Given the description of an element on the screen output the (x, y) to click on. 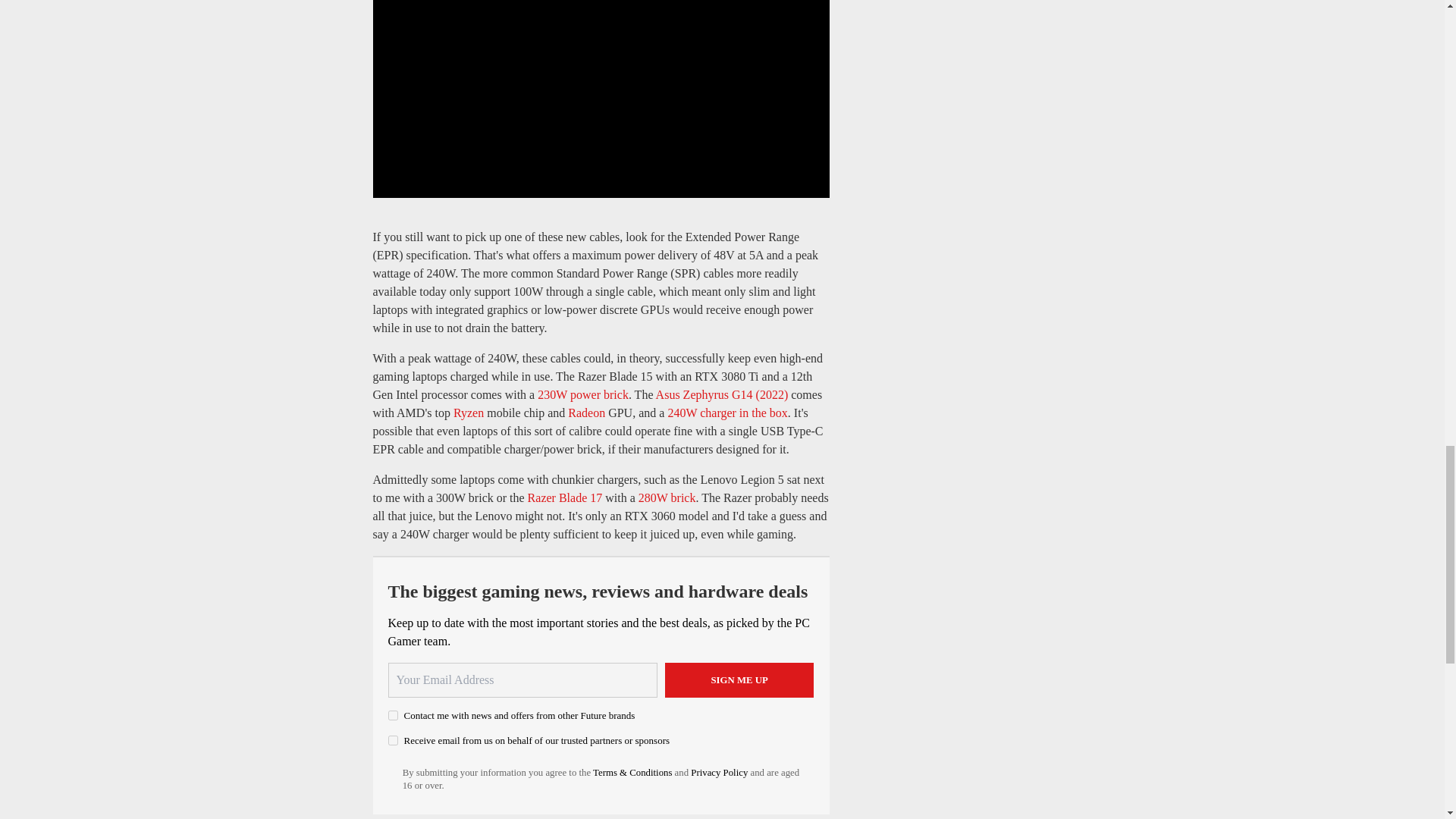
on (392, 715)
Sign me up (739, 679)
on (392, 740)
